Given the description of an element on the screen output the (x, y) to click on. 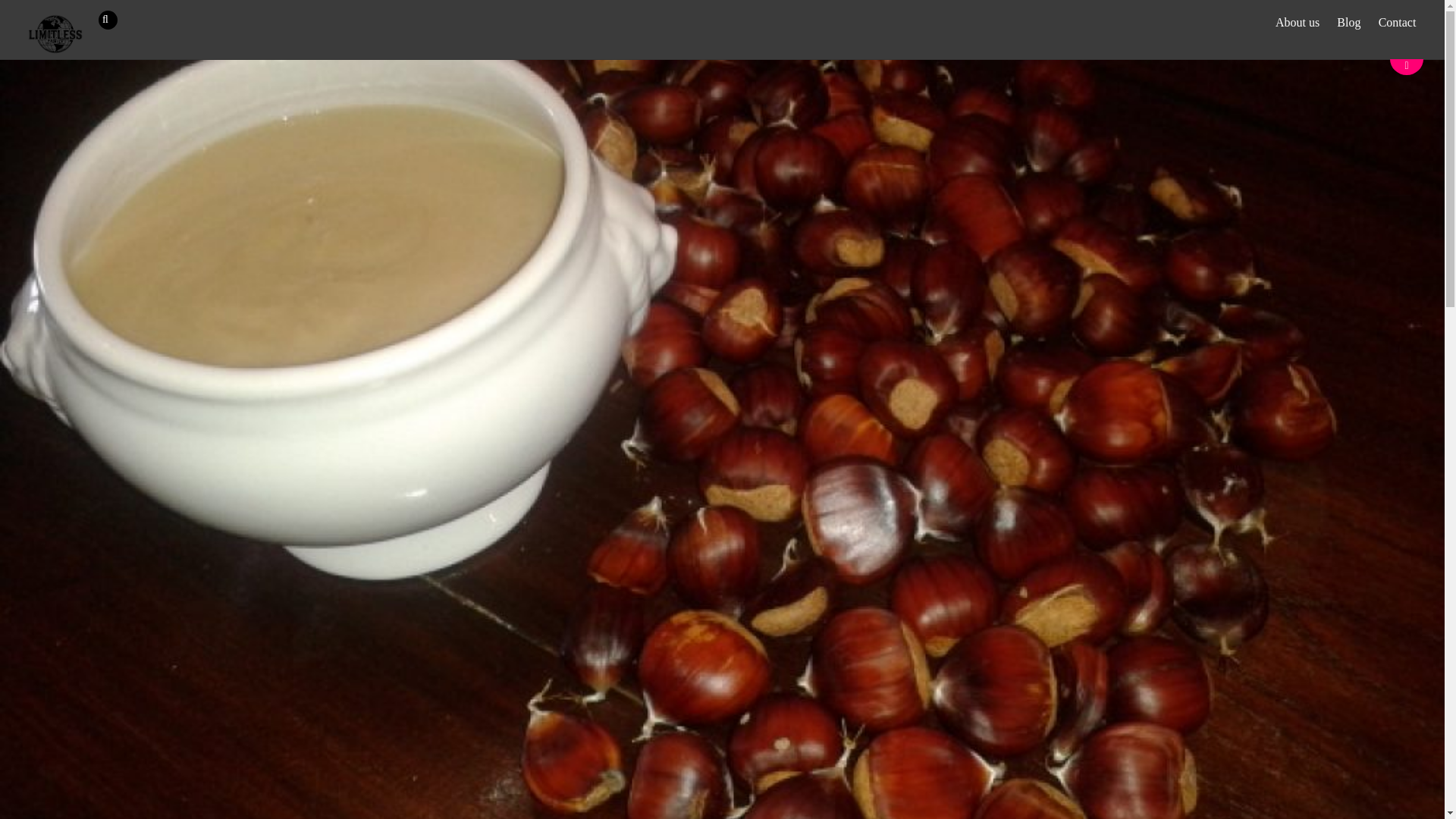
About us (1297, 22)
Limitless Family (54, 33)
Limitless Family (54, 50)
Contact (1397, 22)
Blog (1349, 22)
Search (115, 19)
